Given the description of an element on the screen output the (x, y) to click on. 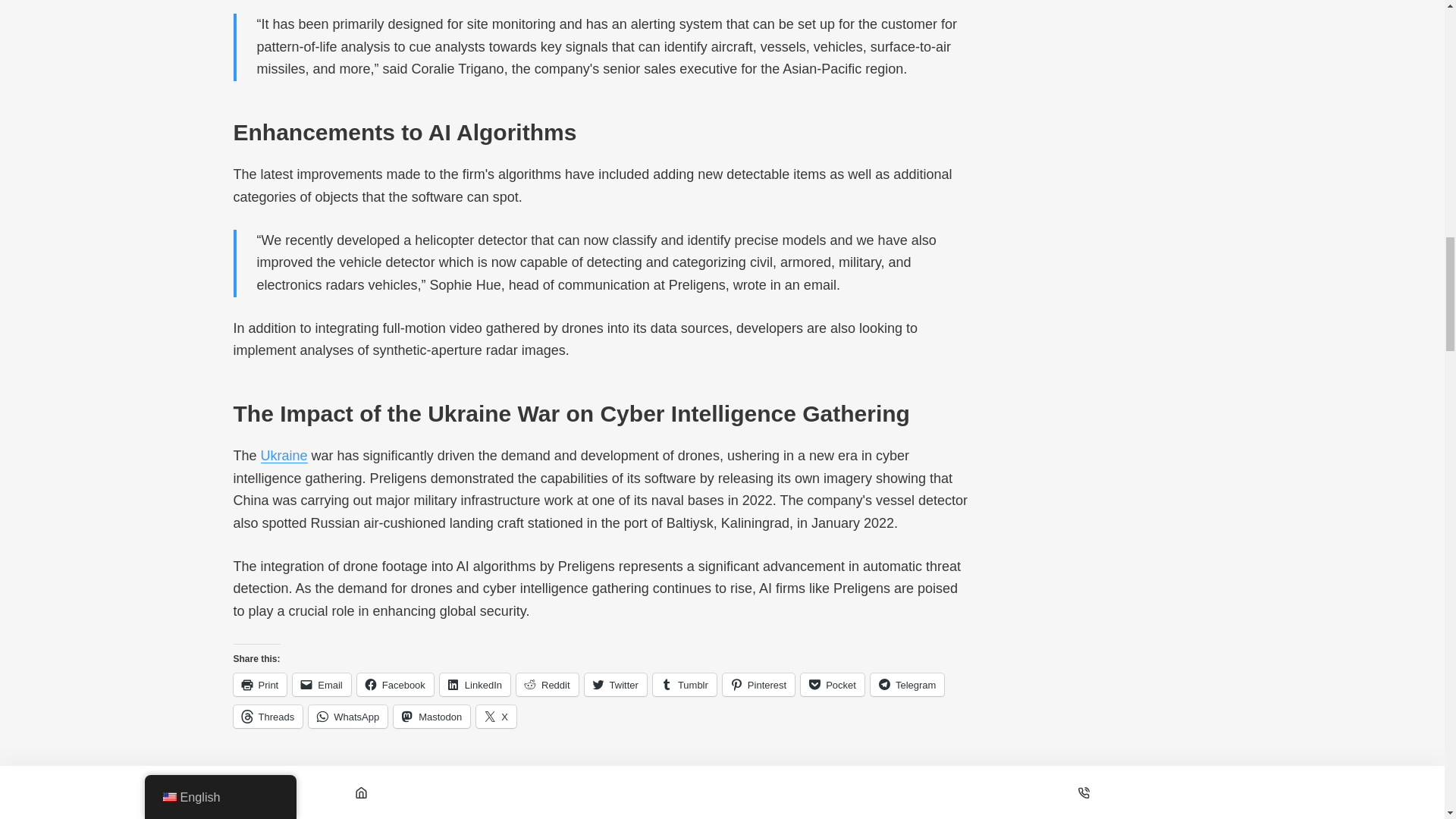
Click to share on Twitter (615, 684)
Click to share on Reddit (547, 684)
Posts in the category Ukraine (283, 455)
Click to share on Facebook (394, 684)
Click to share on Tumblr (684, 684)
Click to share on LinkedIn (475, 684)
Click to print (259, 684)
Click to email a link to a friend (321, 684)
